Given the description of an element on the screen output the (x, y) to click on. 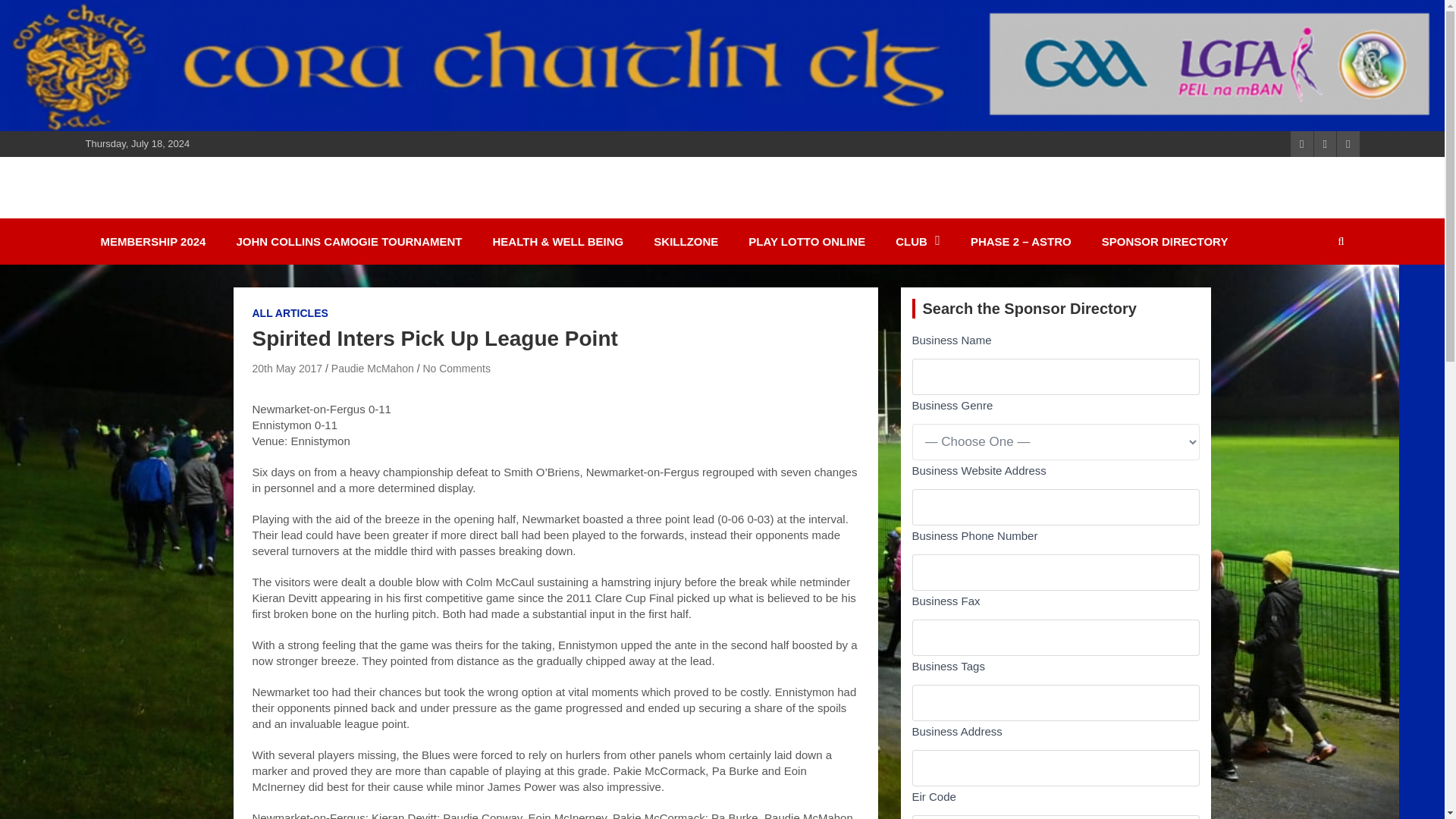
SKILLZONE (686, 241)
No Comments (455, 368)
Paudie McMahon (372, 368)
PLAY LOTTO ONLINE (806, 241)
Spirited Inters Pick Up League Point (286, 368)
MEMBERSHIP 2024 (152, 241)
ALL ARTICLES (289, 313)
CLUB (917, 241)
SPONSOR DIRECTORY (1164, 241)
20th May 2017 (286, 368)
JOHN COLLINS CAMOGIE TOURNAMENT (349, 241)
